Given the description of an element on the screen output the (x, y) to click on. 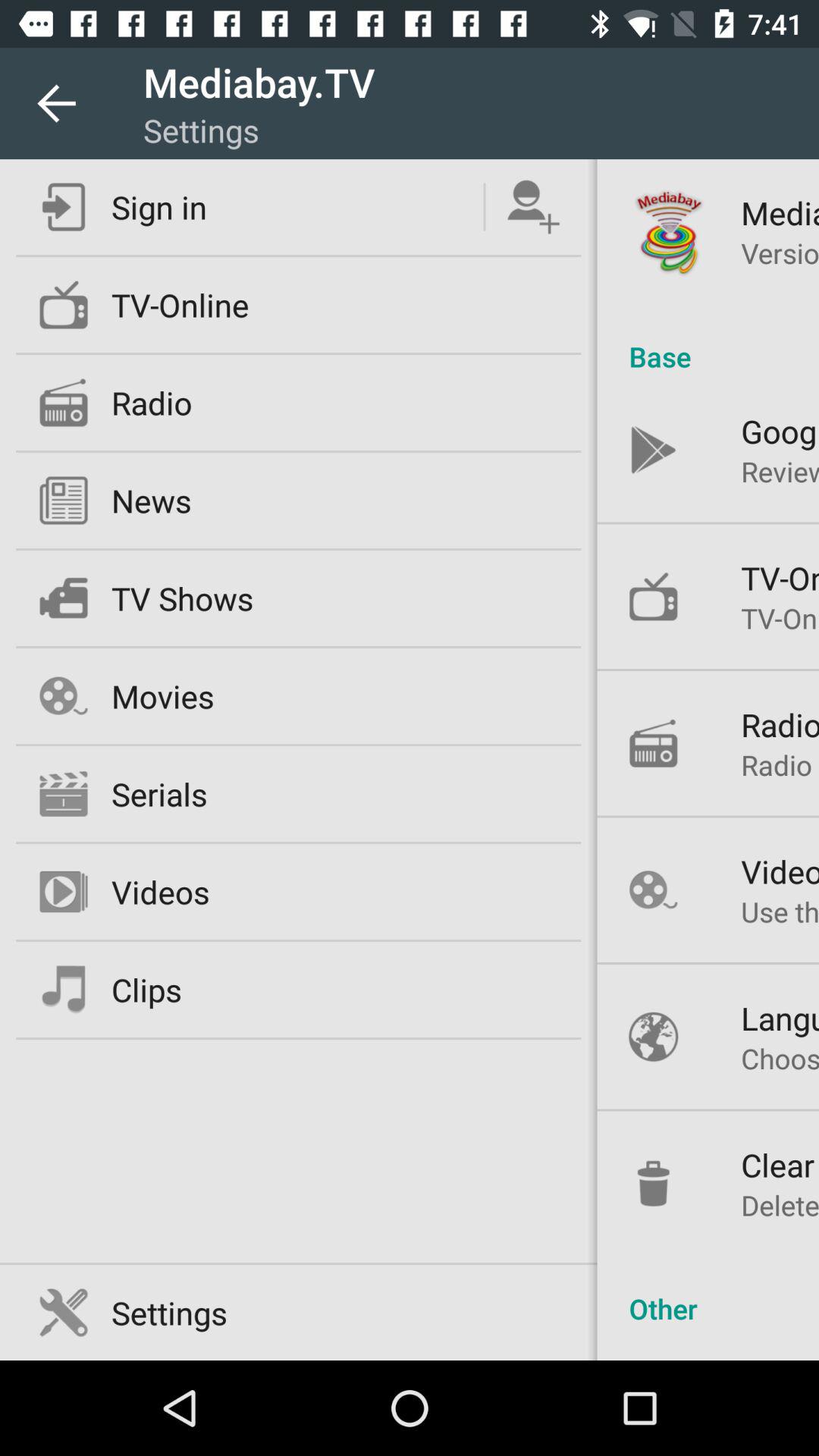
choose review this app icon (780, 471)
